Given the description of an element on the screen output the (x, y) to click on. 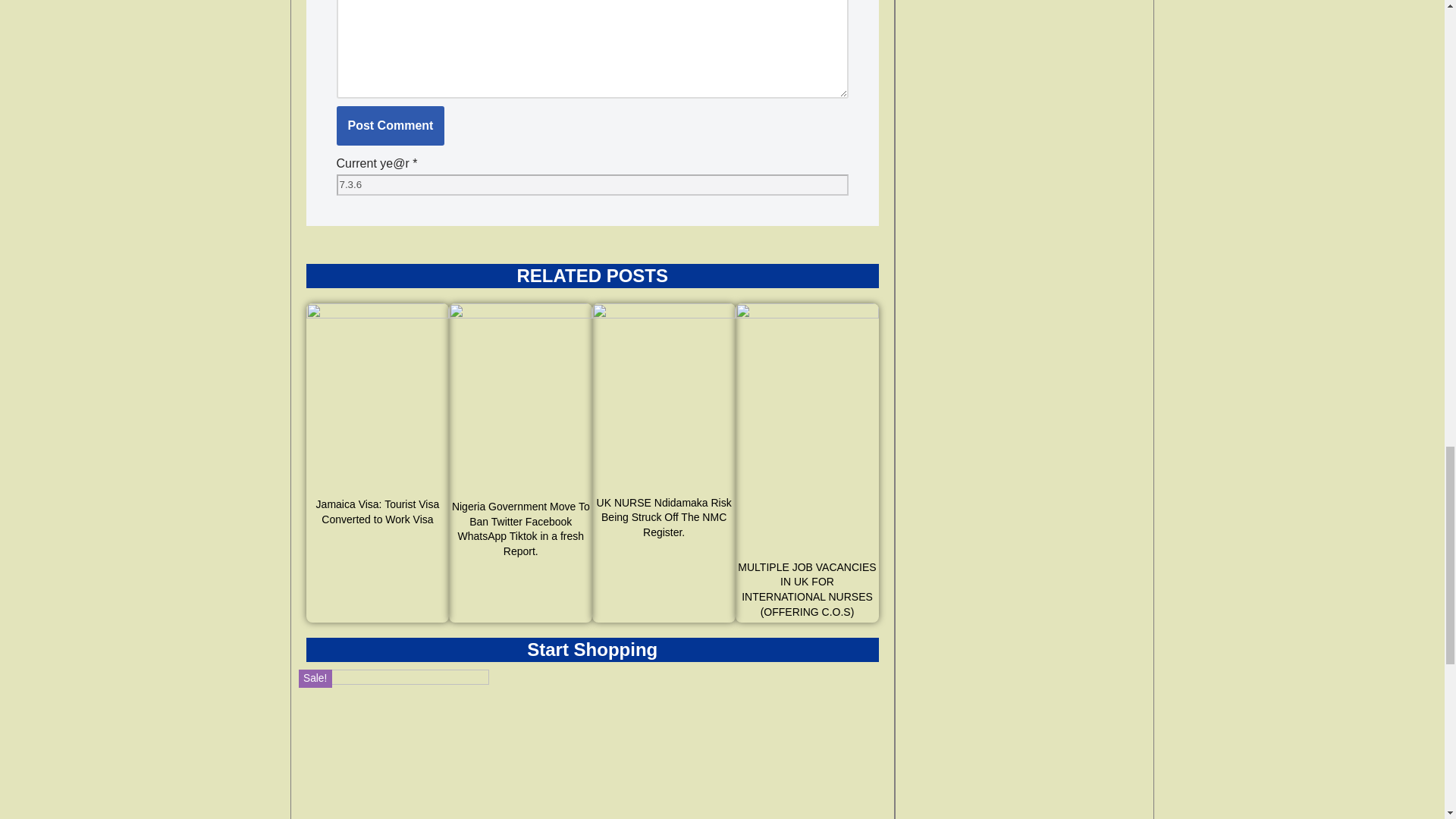
7.3.6 (592, 185)
Post Comment (390, 125)
